Given the description of an element on the screen output the (x, y) to click on. 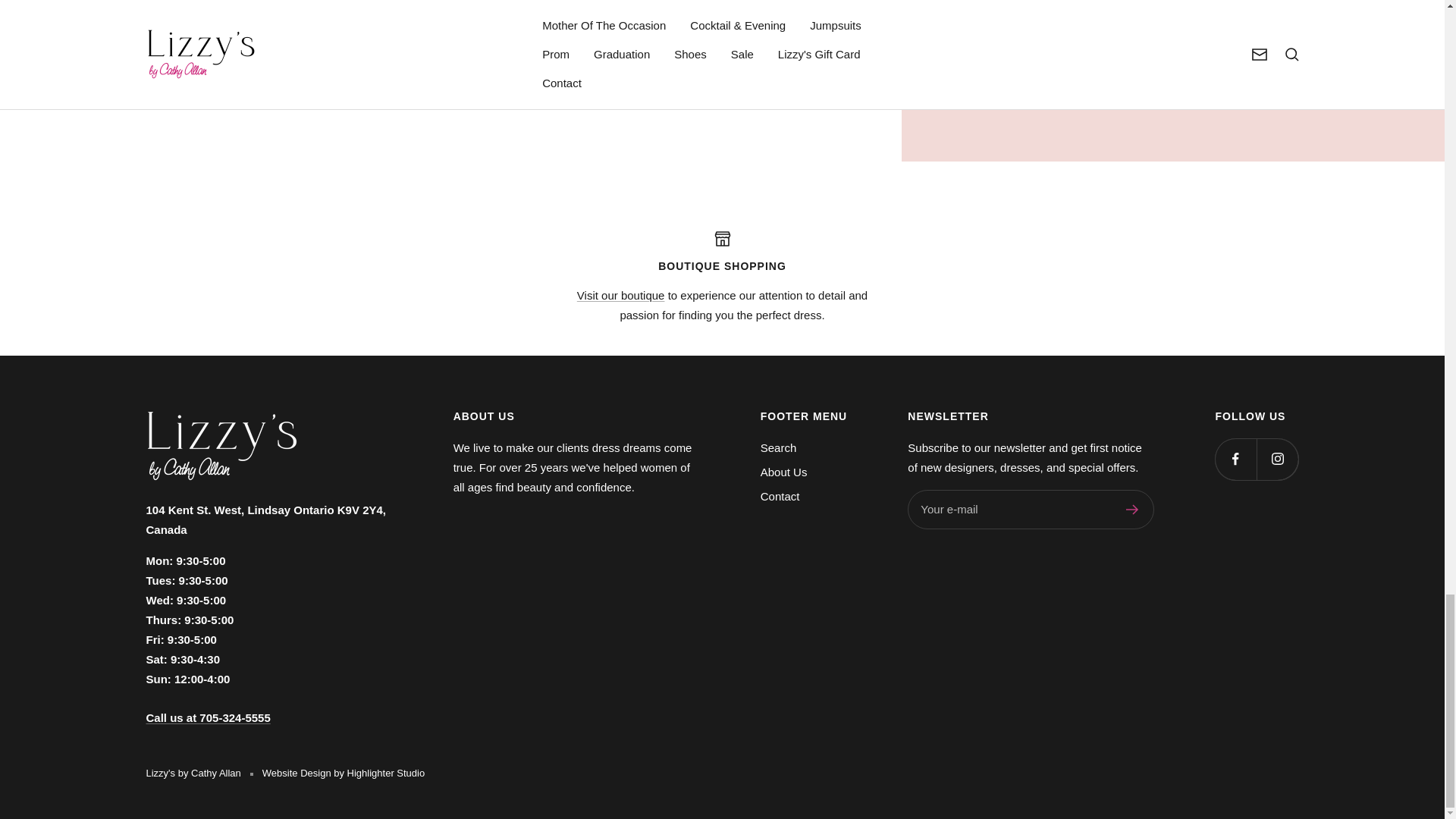
Register (1131, 509)
tel:705-324-5555 (207, 717)
Contact (620, 295)
